Given the description of an element on the screen output the (x, y) to click on. 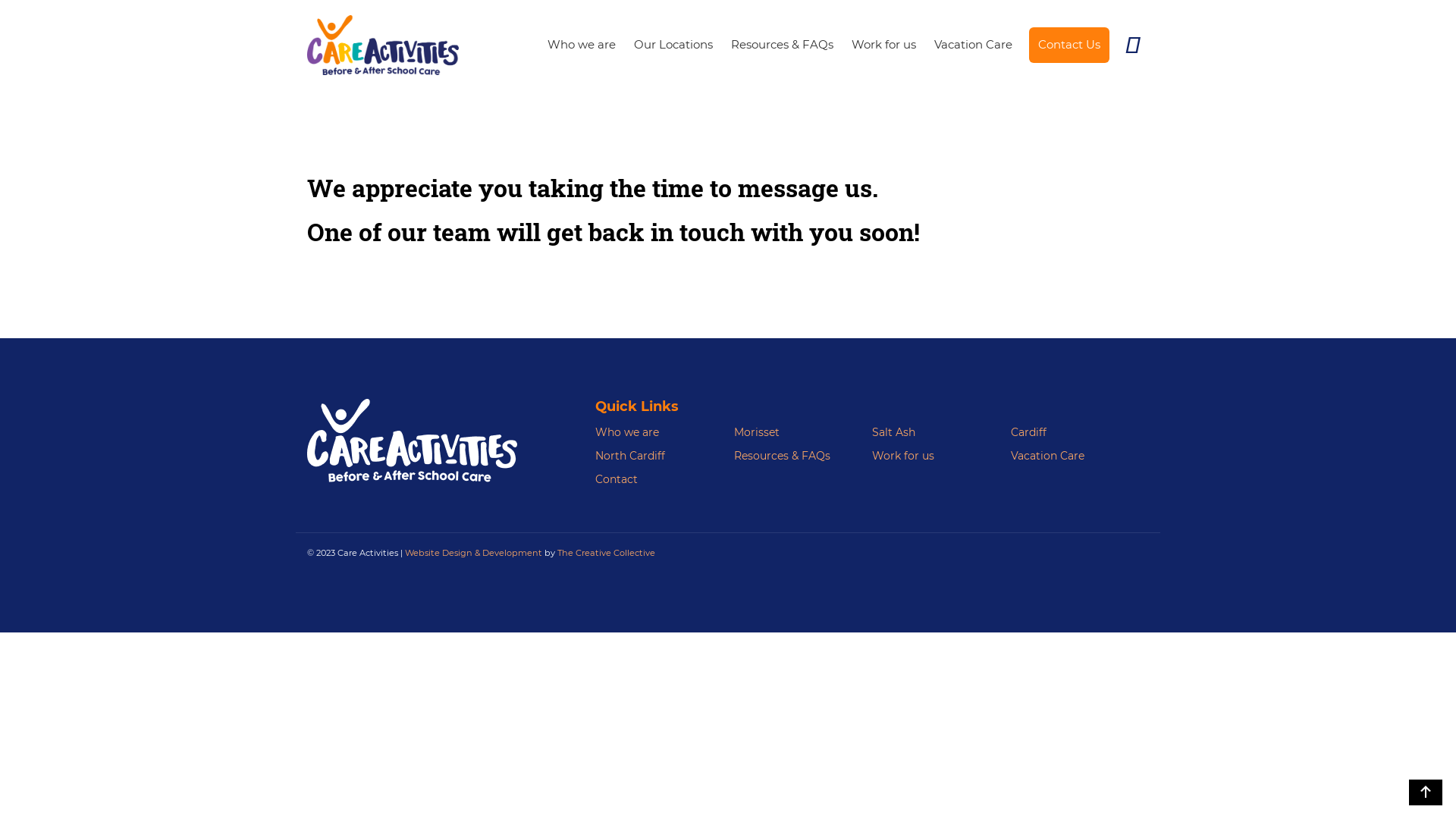
Contact Us Element type: text (1069, 44)
Resources & FAQs Element type: text (782, 455)
Website Design & Development Element type: text (473, 552)
Who we are Element type: text (626, 432)
Salt Ash Element type: text (893, 432)
Who we are Element type: text (581, 44)
North Cardiff Element type: text (630, 455)
Our Locations Element type: text (672, 44)
Work for us Element type: text (883, 44)
Contact Element type: text (616, 479)
Cardiff Element type: text (1027, 432)
The Creative Collective Element type: text (606, 552)
Vacation Care Element type: text (1046, 455)
Resources & FAQs Element type: text (781, 44)
Work for us Element type: text (903, 455)
Morisset Element type: text (756, 432)
Vacation Care Element type: text (973, 44)
